Given the description of an element on the screen output the (x, y) to click on. 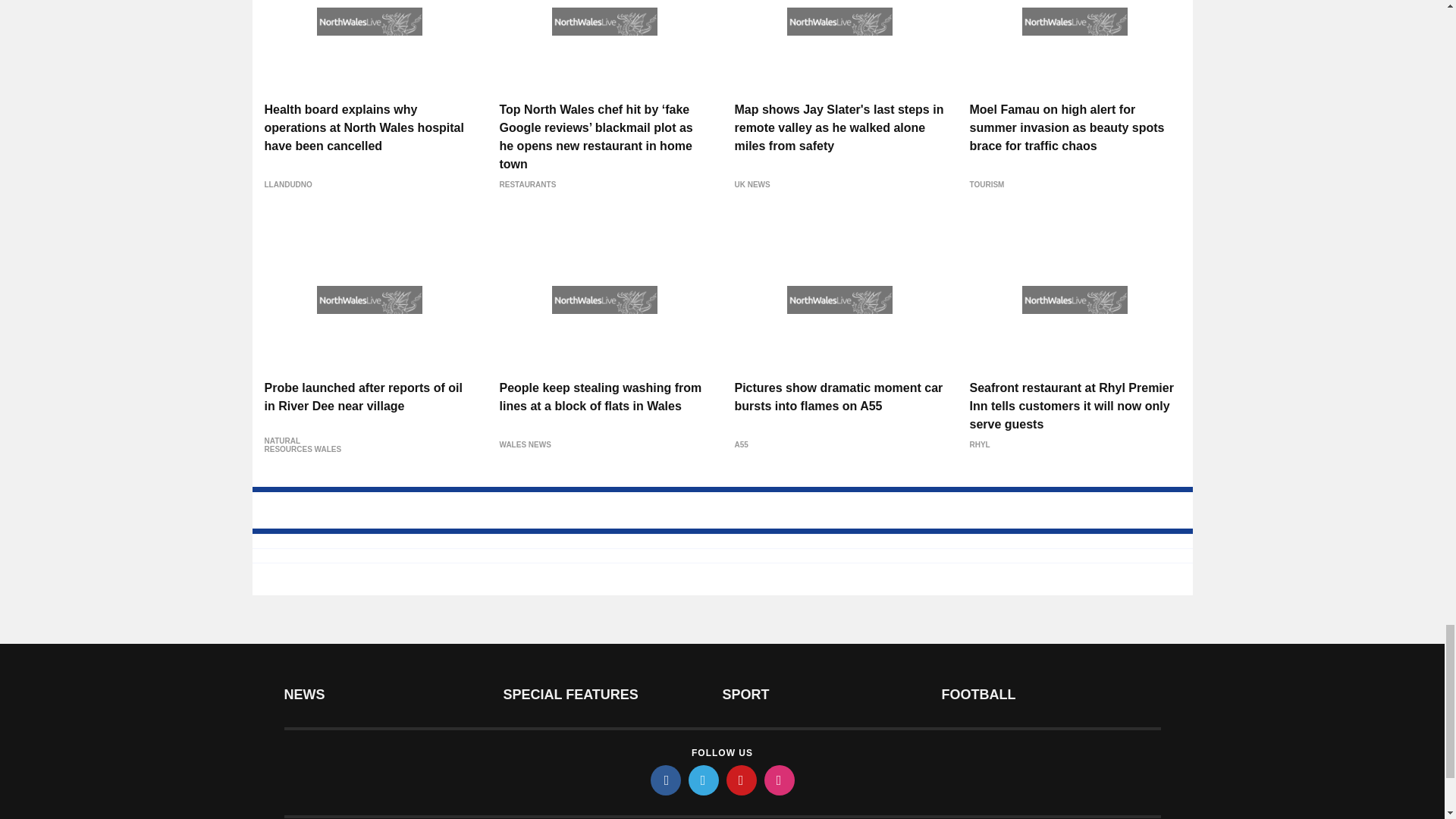
facebook (665, 779)
instagram (779, 779)
pinterest (741, 779)
twitter (703, 779)
